Given the description of an element on the screen output the (x, y) to click on. 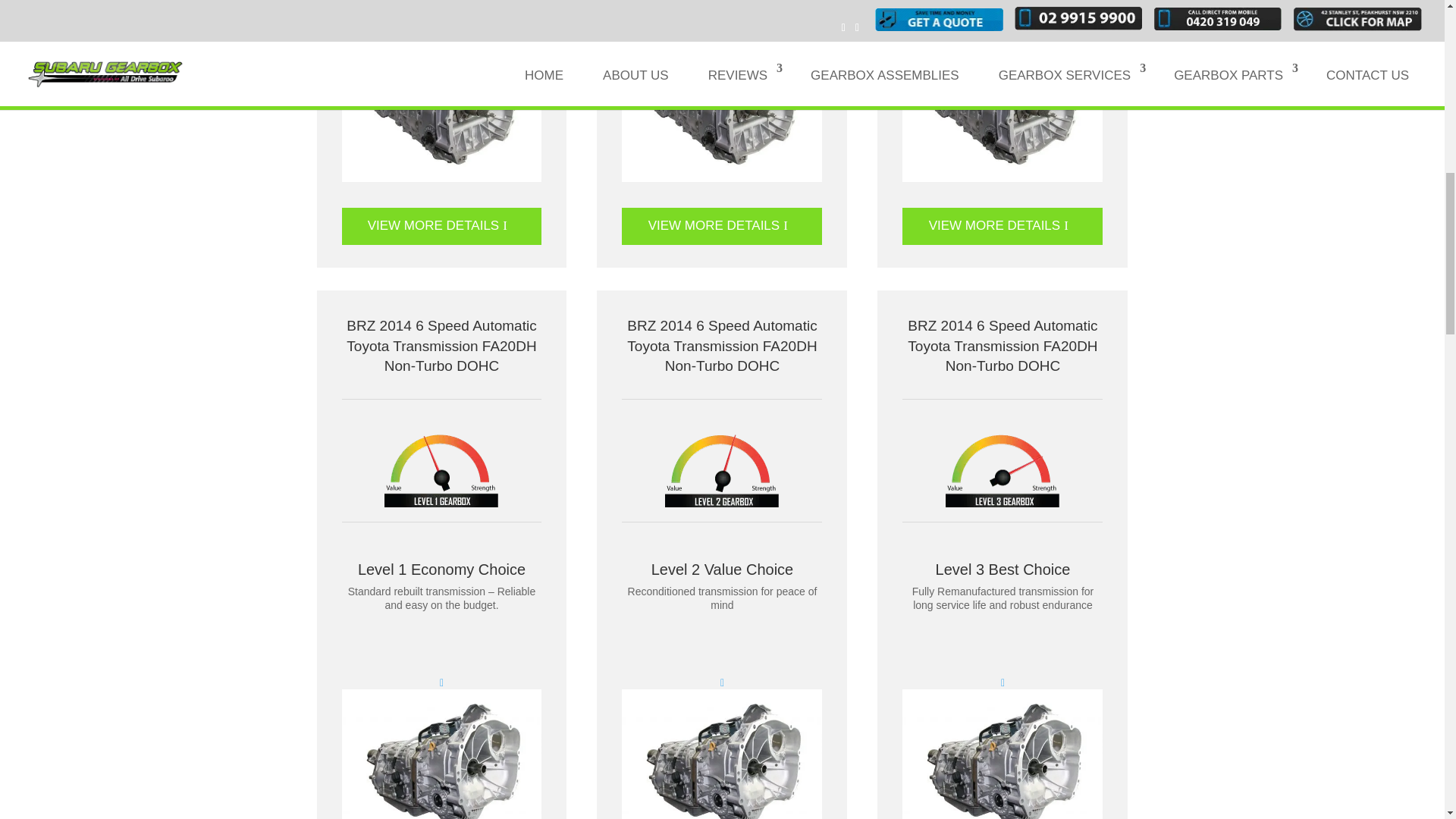
5MT-GBX-finished-336 (440, 107)
4AT-5AT-GBX-finished-866 (721, 754)
4AT-5AT-GBX-finished-868 (1002, 754)
level3-gearbox (1001, 468)
5MT-GBX-finished-339 (721, 107)
level1-gearbox (440, 468)
level2-gearbox (721, 468)
4AT-5AT-GBX-finished-864 (440, 754)
5MT-GBX-finished-341 (1002, 107)
